Given the description of an element on the screen output the (x, y) to click on. 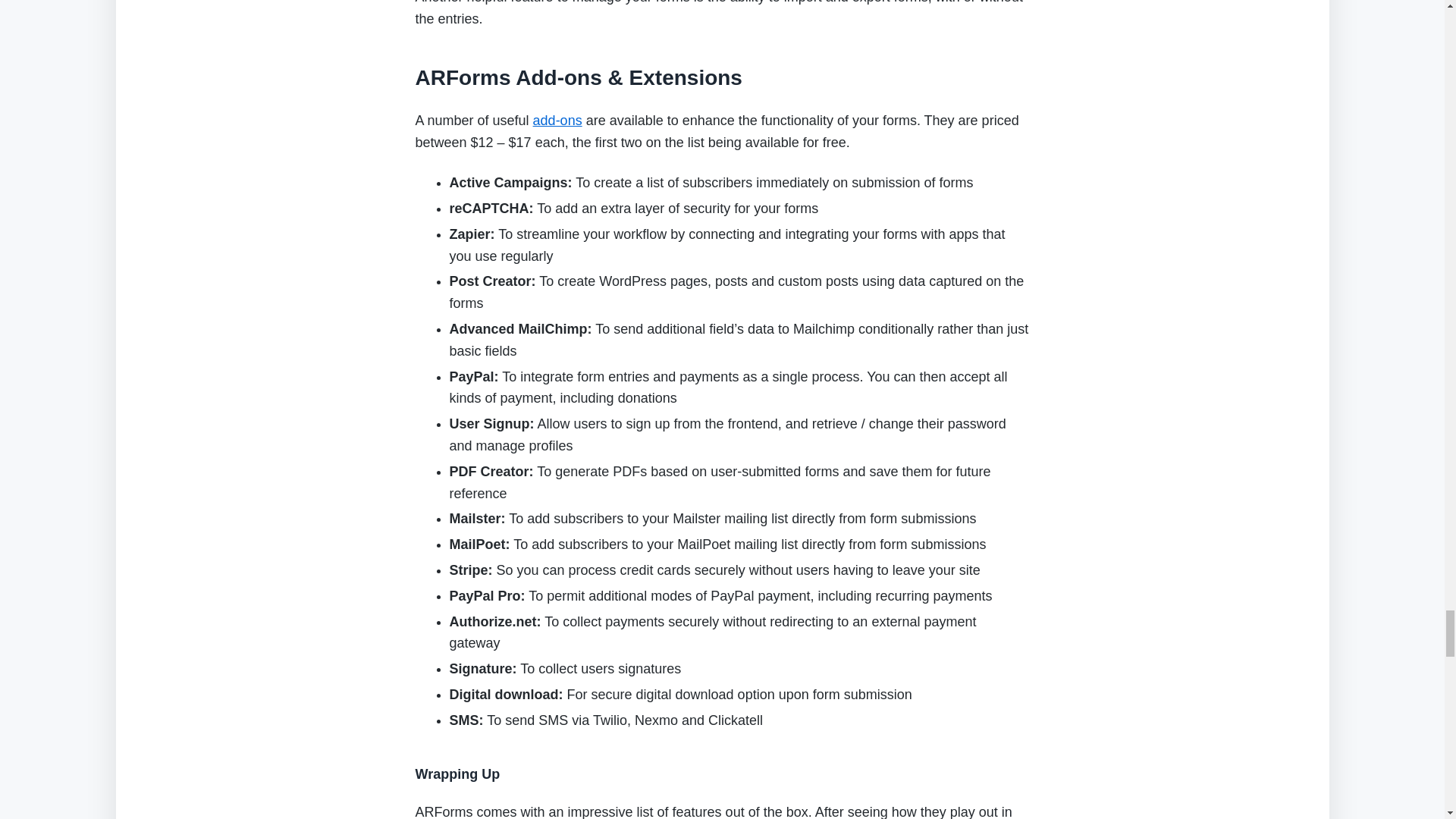
add-ons (557, 120)
